Given the description of an element on the screen output the (x, y) to click on. 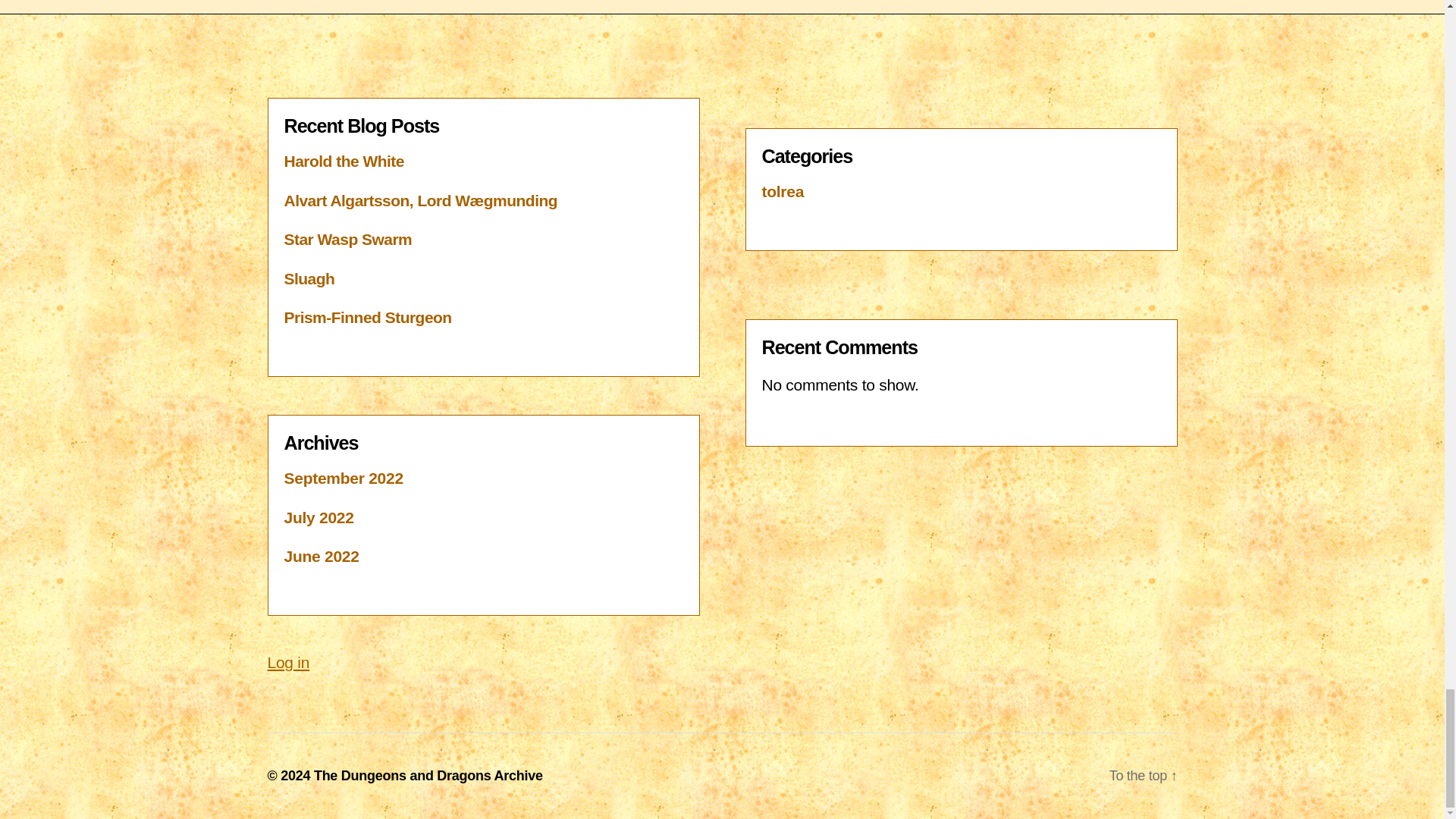
Sluagh (308, 278)
Log in (287, 661)
Harold the White (343, 160)
June 2022 (320, 556)
Star Wasp Swarm (347, 239)
Prism-Finned Sturgeon (367, 316)
July 2022 (318, 517)
September 2022 (343, 477)
